Given the description of an element on the screen output the (x, y) to click on. 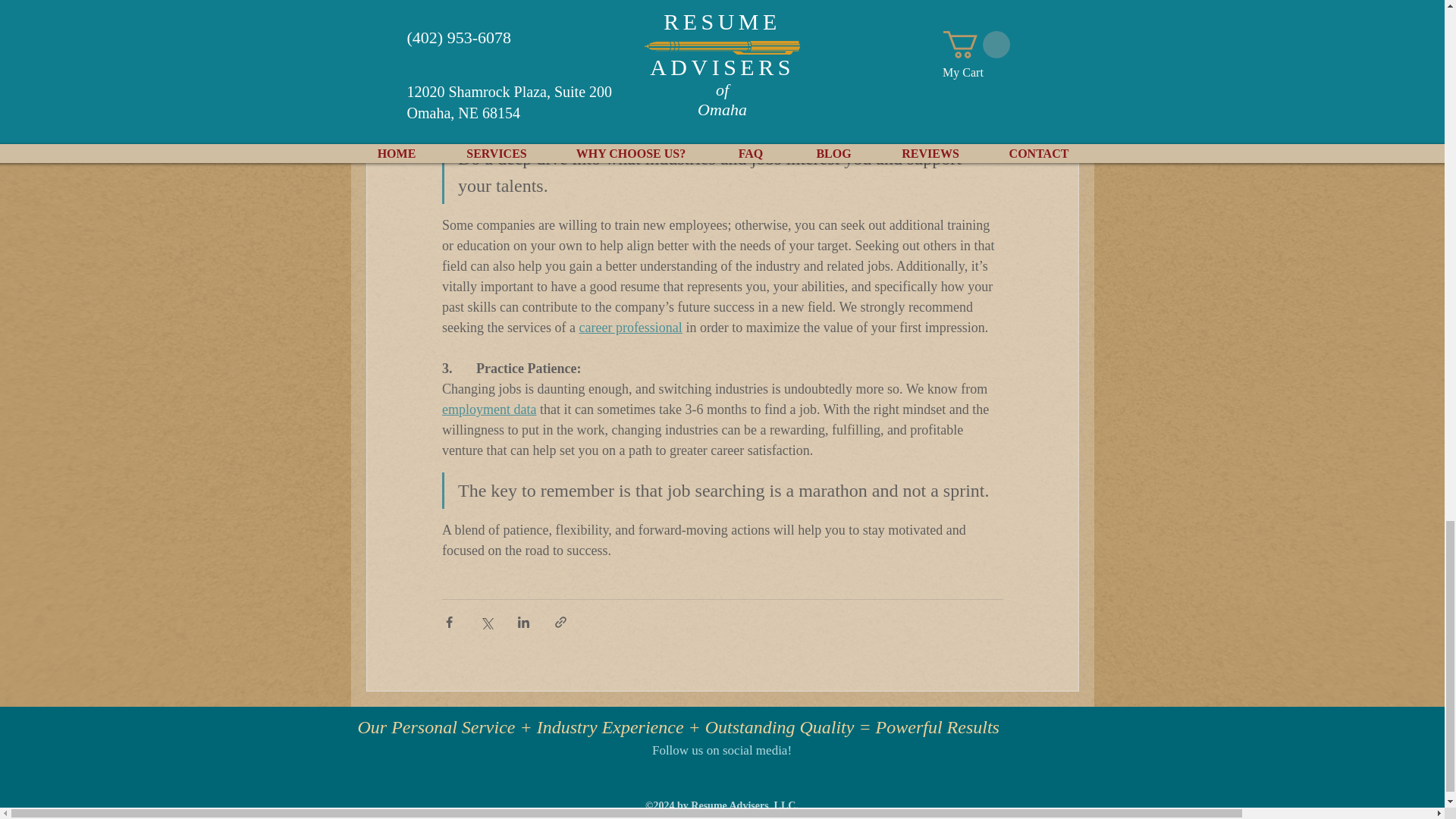
career professional (629, 327)
employment data (488, 409)
